Given the description of an element on the screen output the (x, y) to click on. 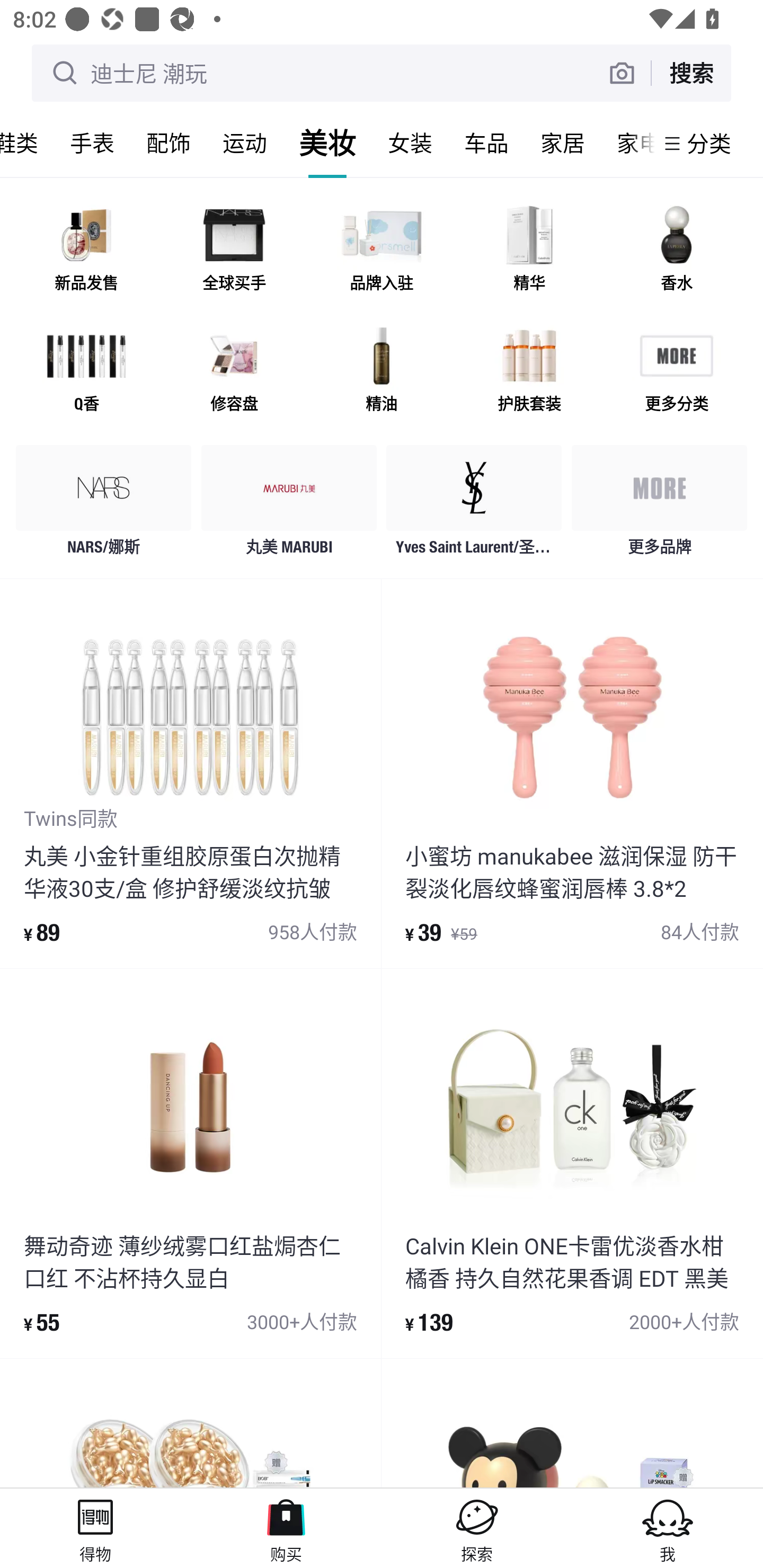
搜索 (690, 72)
鞋类 (27, 143)
手表 (92, 143)
配饰 (168, 143)
运动 (244, 143)
美妆 (327, 143)
女装 (410, 143)
车品 (486, 143)
家居 (562, 143)
家电 (627, 143)
分类 (708, 143)
新品发售 (86, 251)
全球买手 (233, 251)
品牌入驻 (381, 251)
精华 (528, 251)
香水 (676, 251)
Q香 (86, 372)
修容盘 (233, 372)
精油 (381, 372)
护肤套装 (528, 372)
更多分类 (676, 372)
NARS/娜斯 (103, 505)
丸美 MARUBI (288, 505)
Yves Saint Laurent/圣罗兰 (473, 505)
更多品牌 (658, 505)
得物 (95, 1528)
购买 (285, 1528)
探索 (476, 1528)
我 (667, 1528)
